Given the description of an element on the screen output the (x, y) to click on. 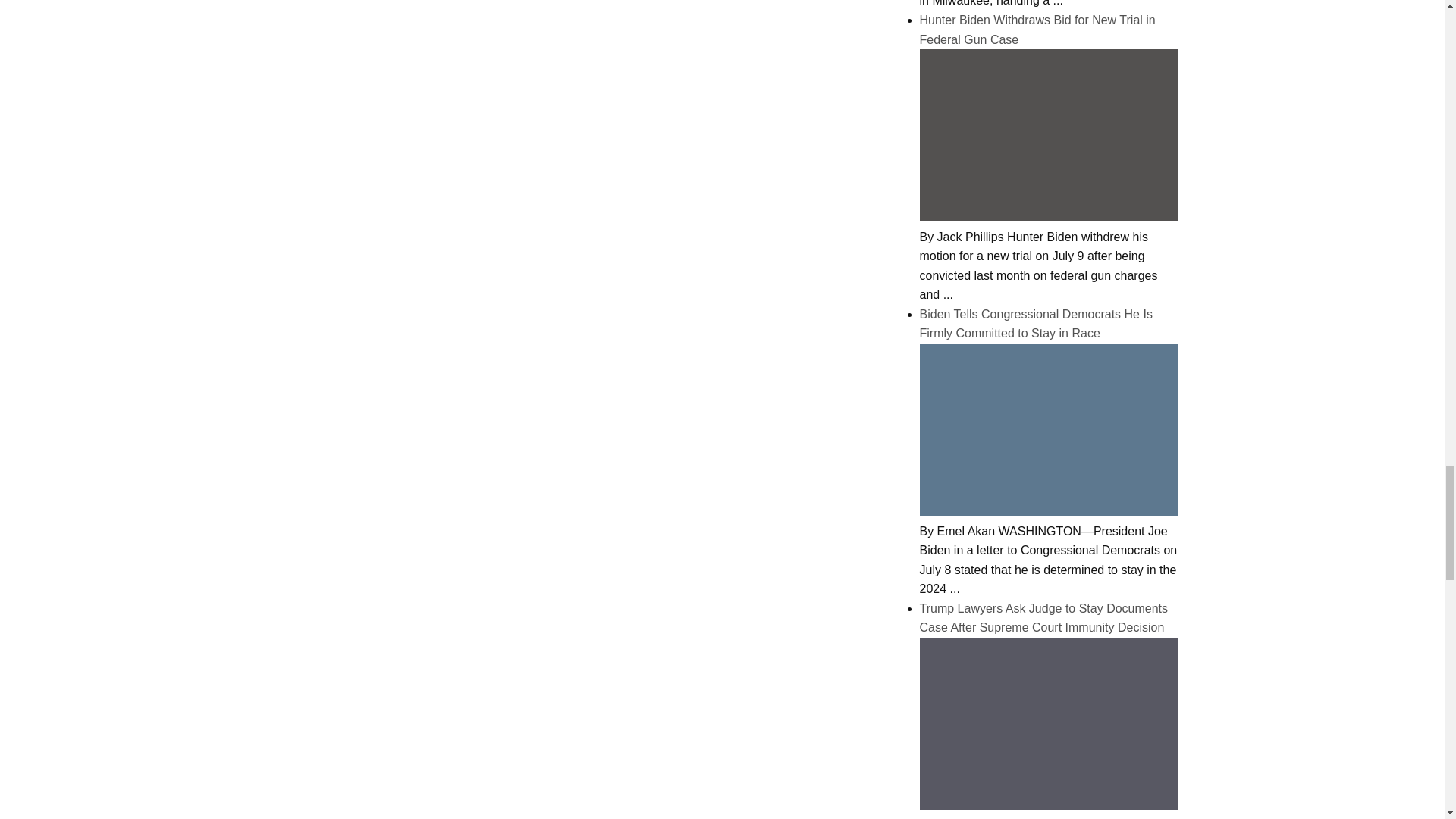
Hunter Biden Withdraws Bid for New Trial in Federal Gun Case (1047, 216)
